Given the description of an element on the screen output the (x, y) to click on. 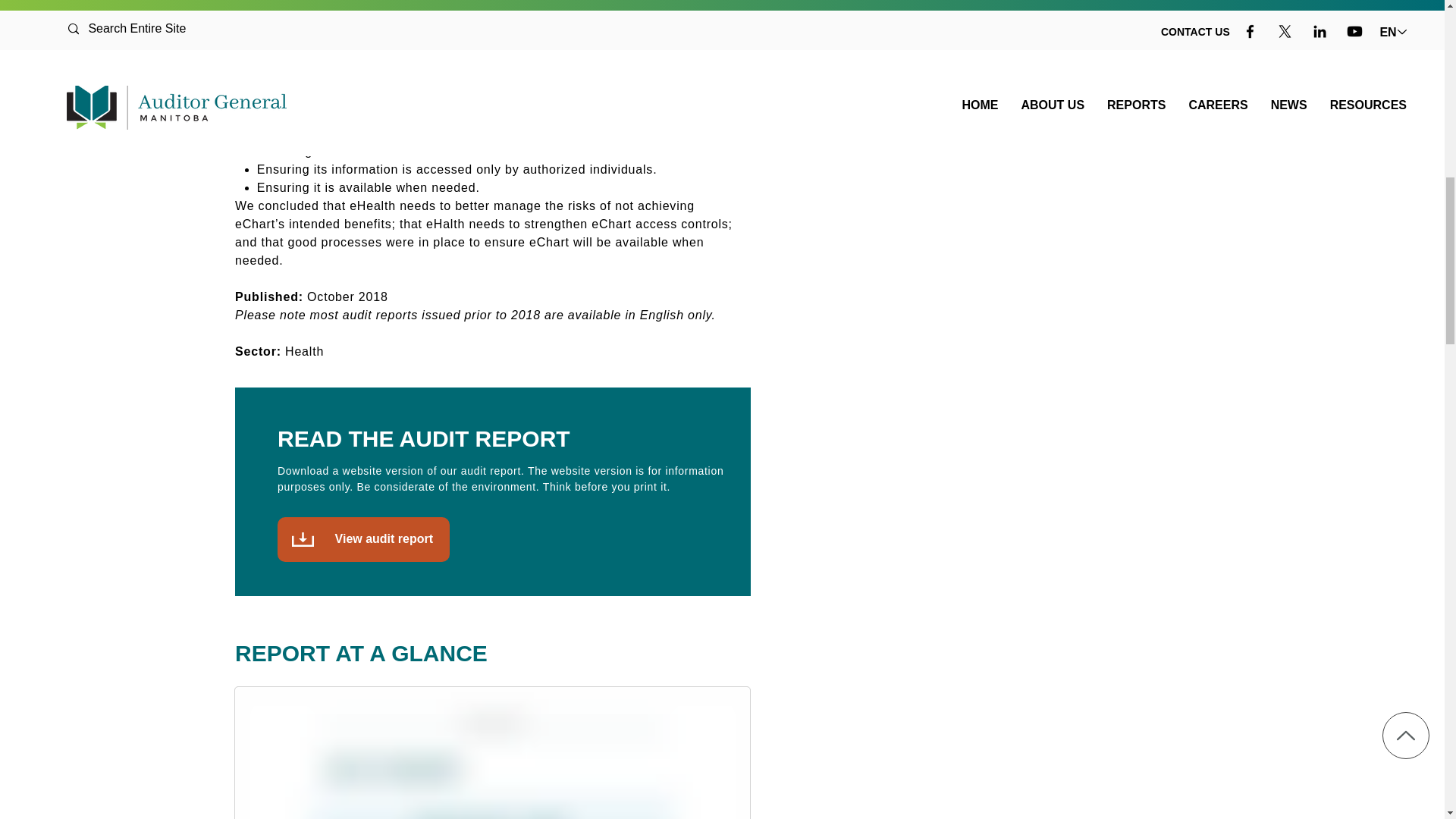
AGM-Generic-Report.png (483, 31)
View audit report (363, 538)
